Given the description of an element on the screen output the (x, y) to click on. 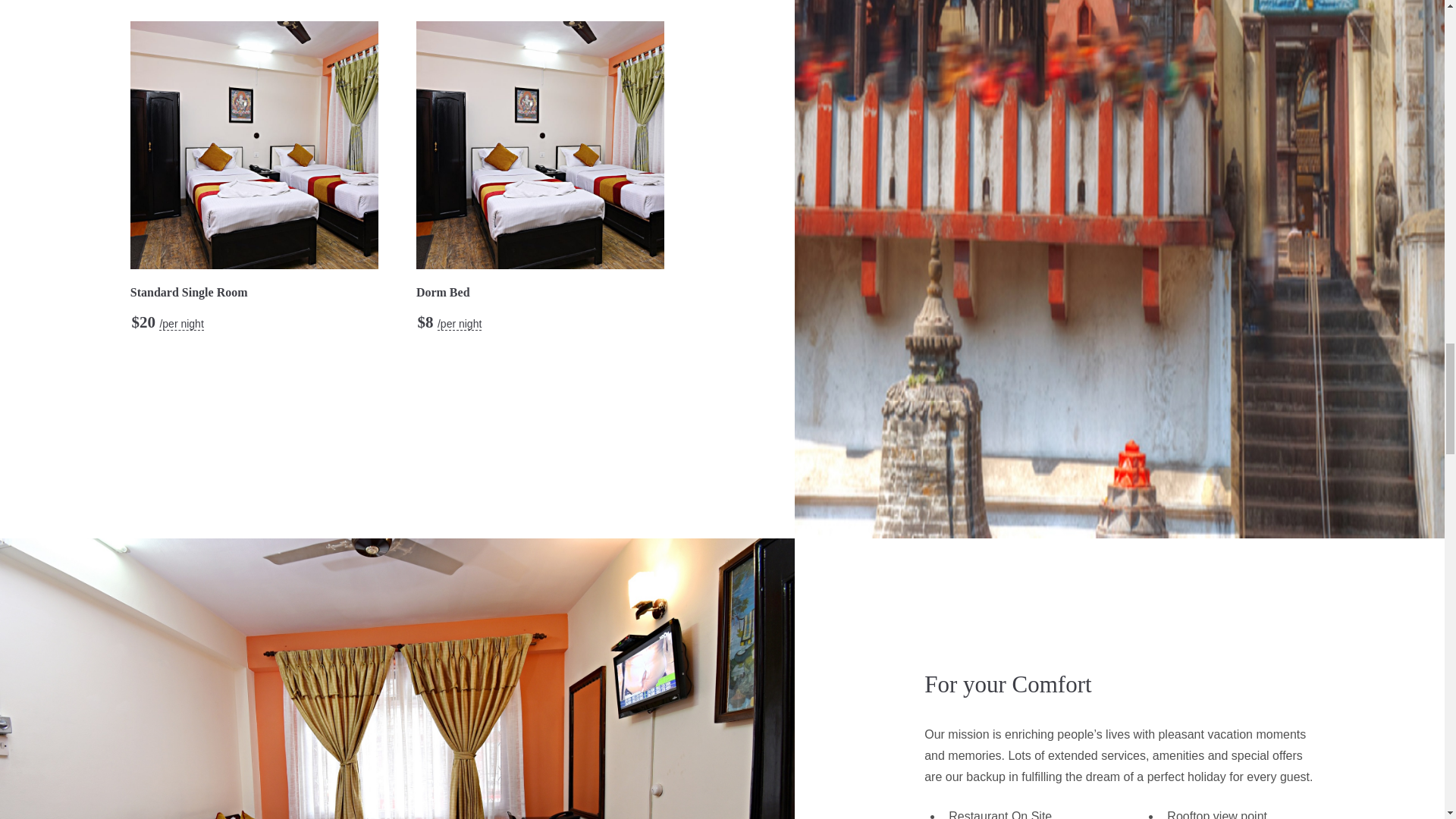
Choose dates to see relevant prices (459, 323)
Choose dates to see relevant prices (180, 323)
